Given the description of an element on the screen output the (x, y) to click on. 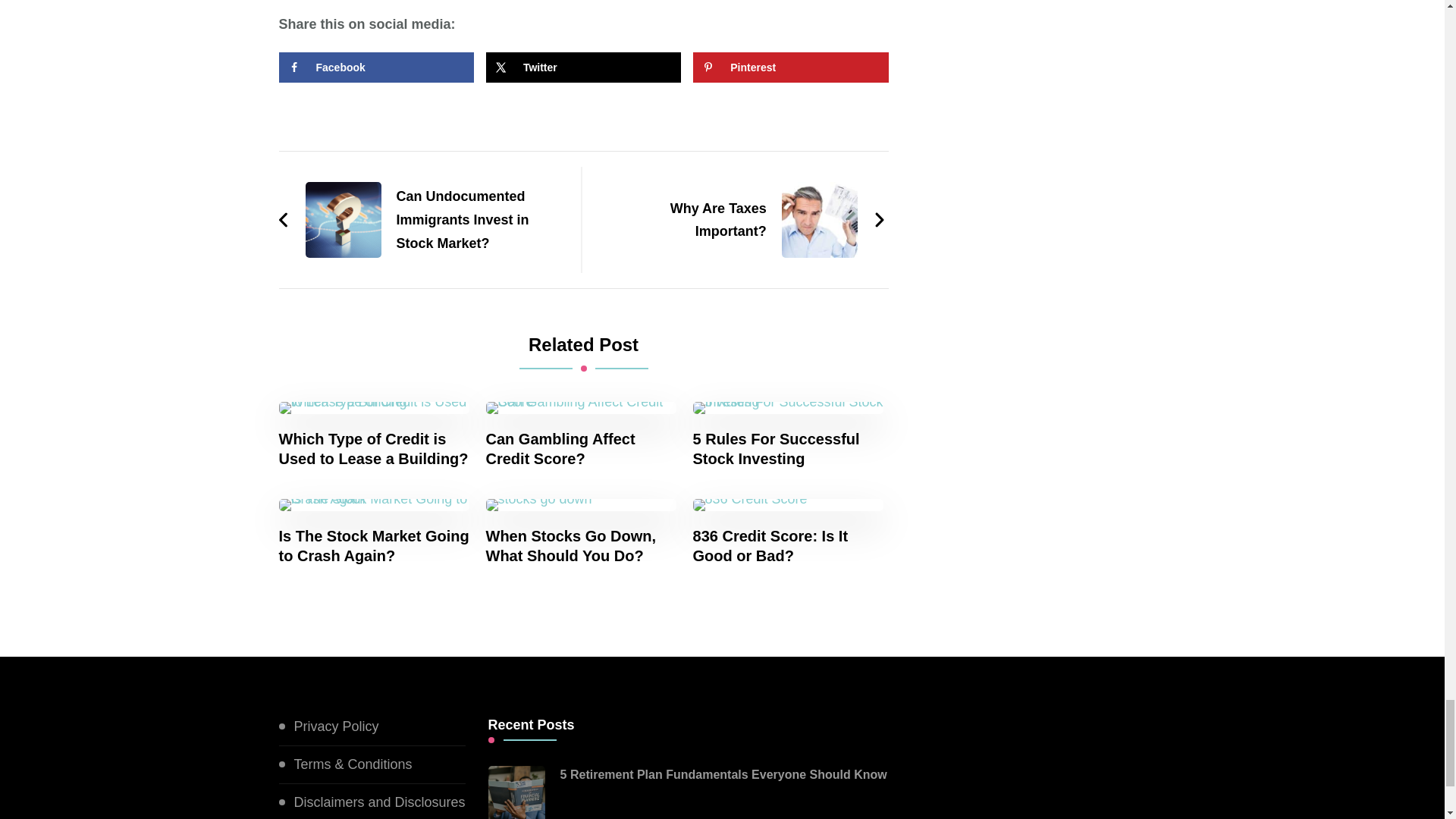
Share on X (583, 67)
Share on Facebook (376, 67)
Twitter (583, 67)
Facebook (376, 67)
Save to Pinterest (790, 67)
Can Undocumented Immigrants Invest in Stock Market? (421, 219)
Pinterest (790, 67)
